Given the description of an element on the screen output the (x, y) to click on. 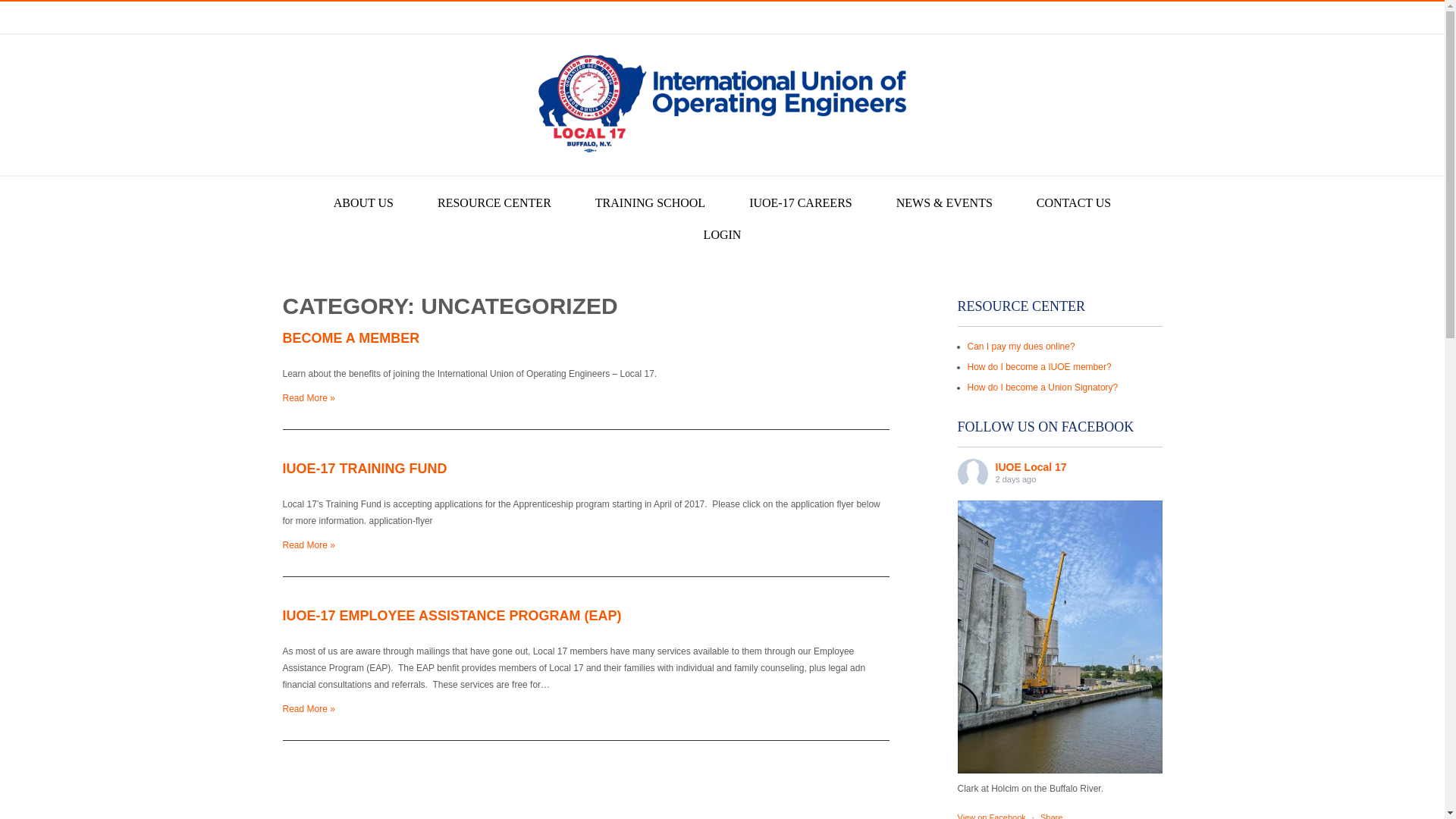
IUOE Local 17 (1029, 467)
TRAINING SCHOOL (650, 203)
Can I pay my dues online? (1021, 346)
RESOURCE CENTER (494, 203)
How do I become a IUOE member? (1040, 366)
View on Facebook (991, 816)
Share (1051, 816)
IUOE-17 CAREERS (800, 203)
BECOME A MEMBER (350, 337)
How do I become a Union Signatory? (1043, 387)
Share (1051, 816)
IUOE-17 TRAINING FUND (364, 468)
LOGIN (721, 234)
CONTACT US (1073, 203)
ABOUT US (363, 203)
